Given the description of an element on the screen output the (x, y) to click on. 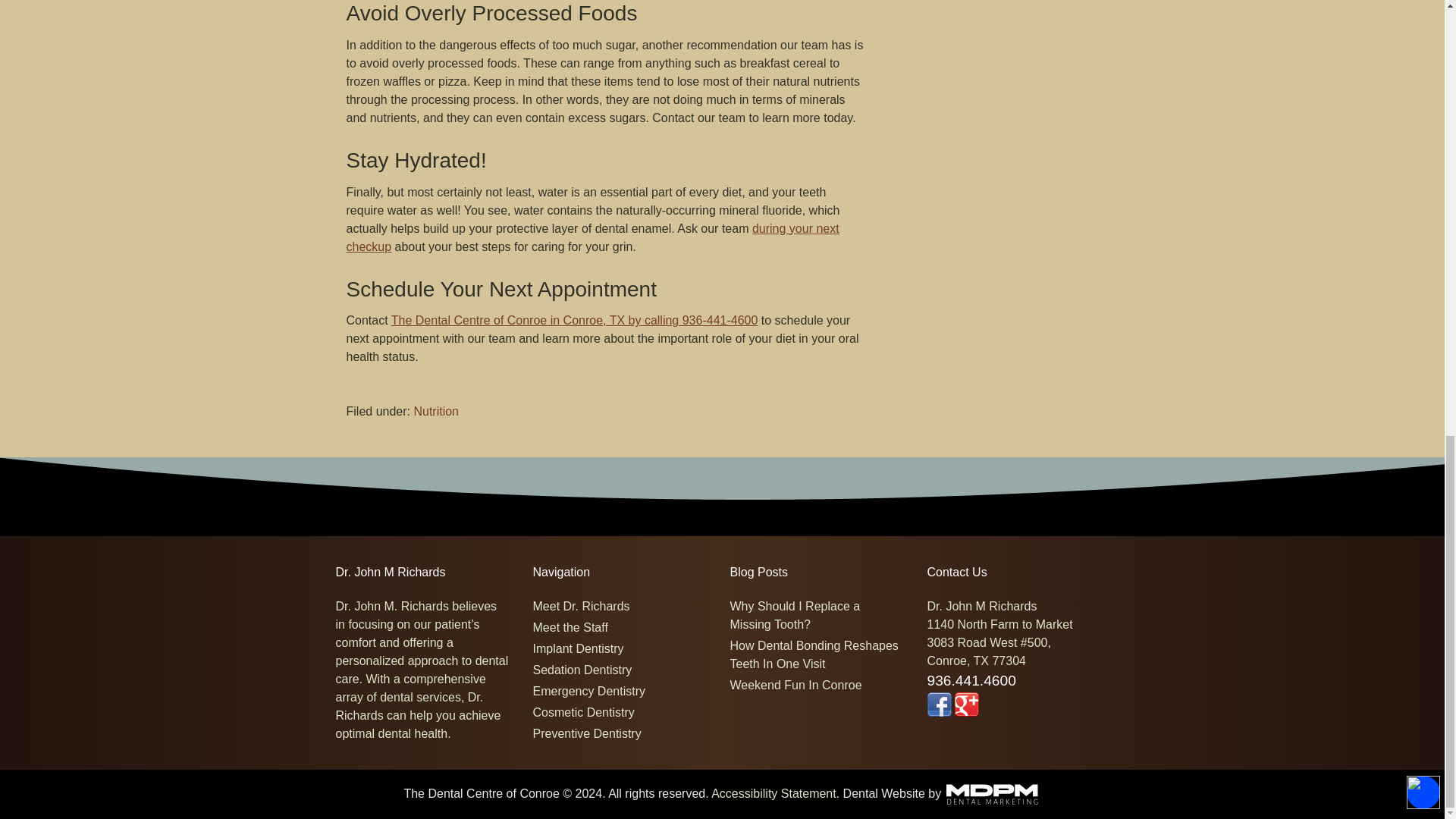
during your next checkup (592, 237)
Nutrition (435, 410)
Meet Dr. Richards (580, 605)
